Given the description of an element on the screen output the (x, y) to click on. 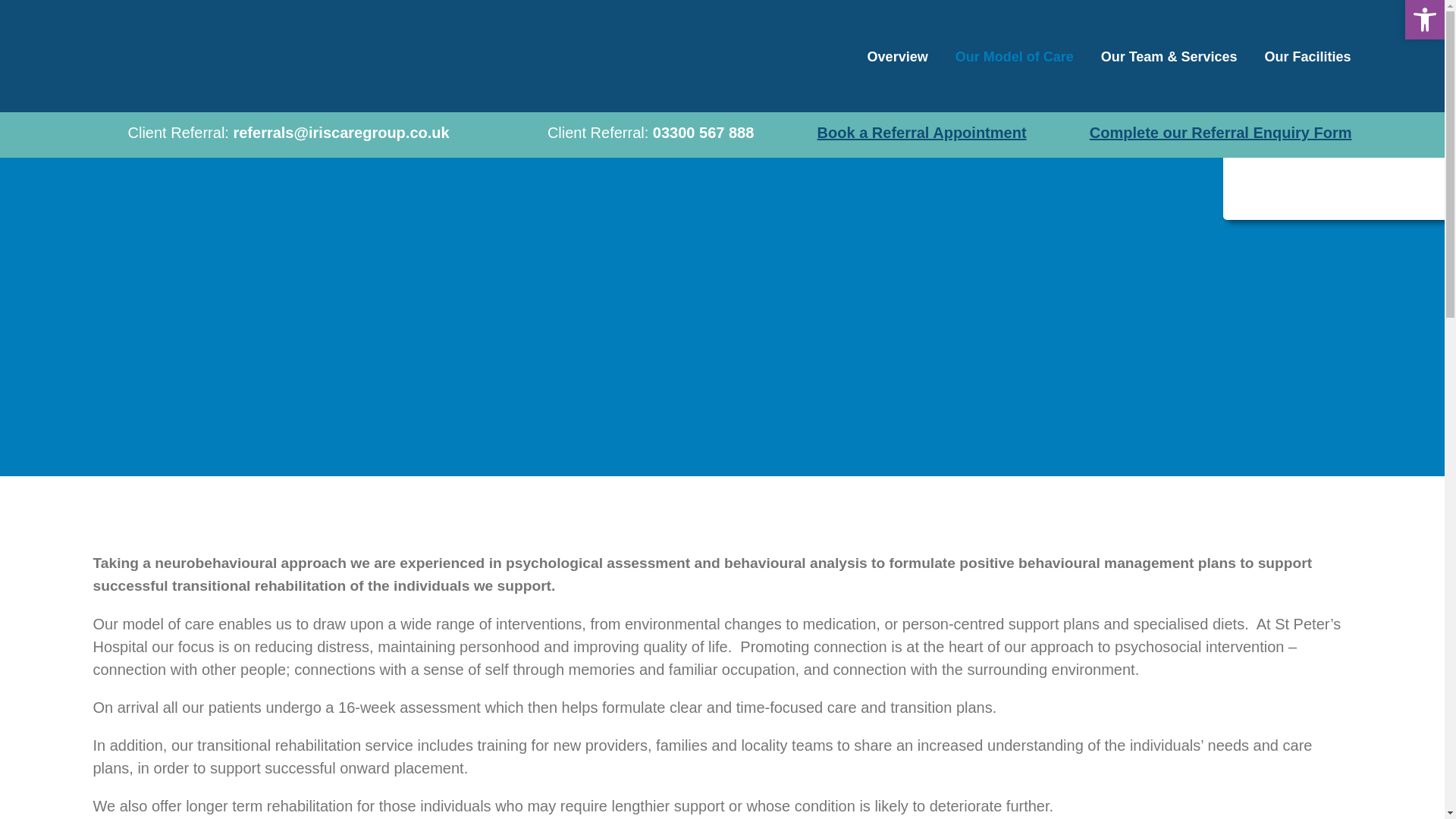
Complete our Referral Enquiry Form (1220, 132)
Book a Referral Appointment (921, 132)
Client Referral: (633, 134)
Iris Care Group (227, 55)
GO TO IRIS CARE GROUP HOMEPAGE (1332, 172)
Client Referral: 03300 567 888 (633, 134)
Accessibility Tools (1424, 19)
Client Referral: (270, 134)
Our Model of Care (1014, 56)
